Given the description of an element on the screen output the (x, y) to click on. 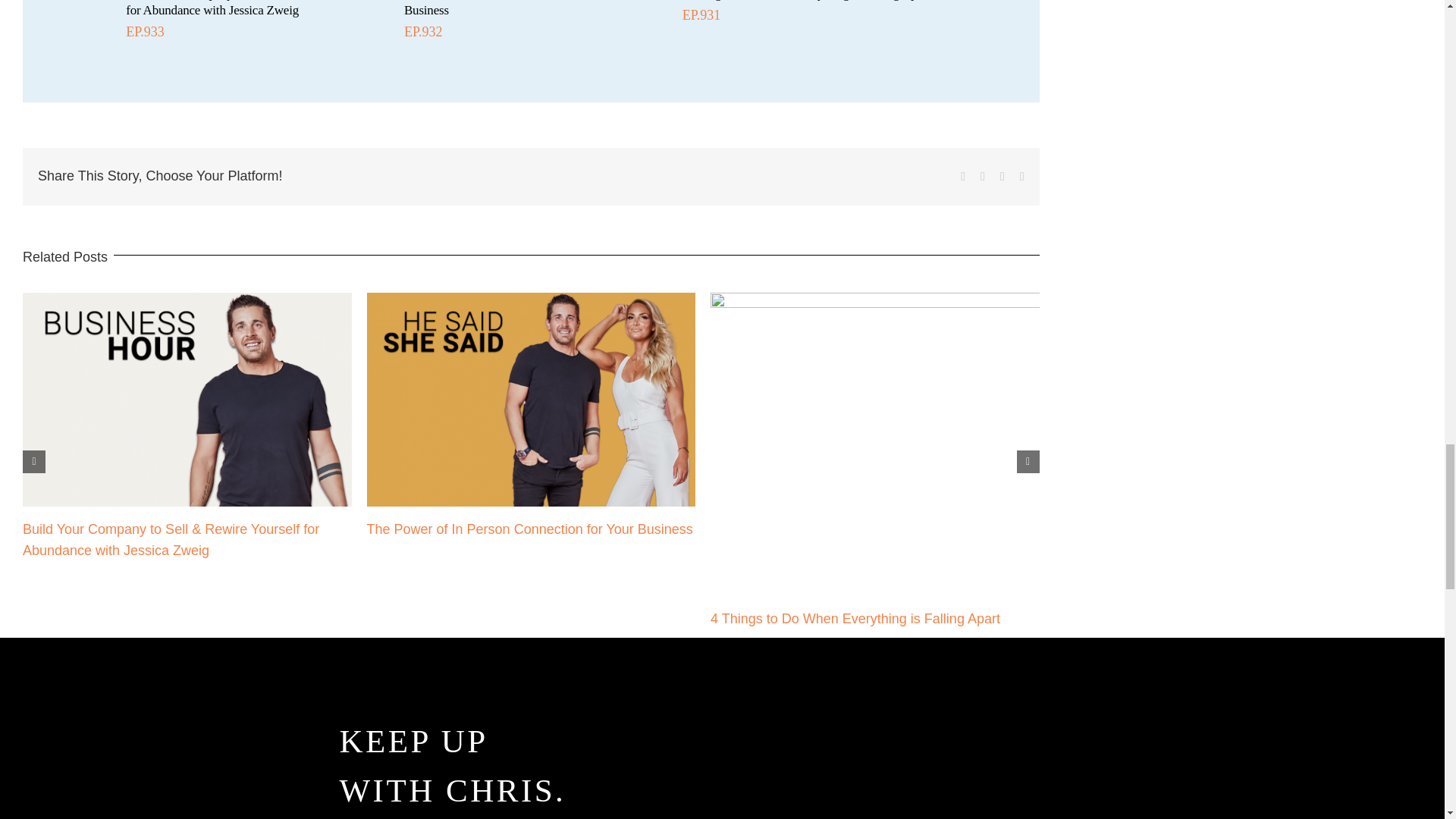
4 Things to Do When Everything is Falling Apart (855, 618)
The Power of In Person Connection for Your Business (529, 529)
The Power of In Person Connection for Your Business (516, 8)
